Given the description of an element on the screen output the (x, y) to click on. 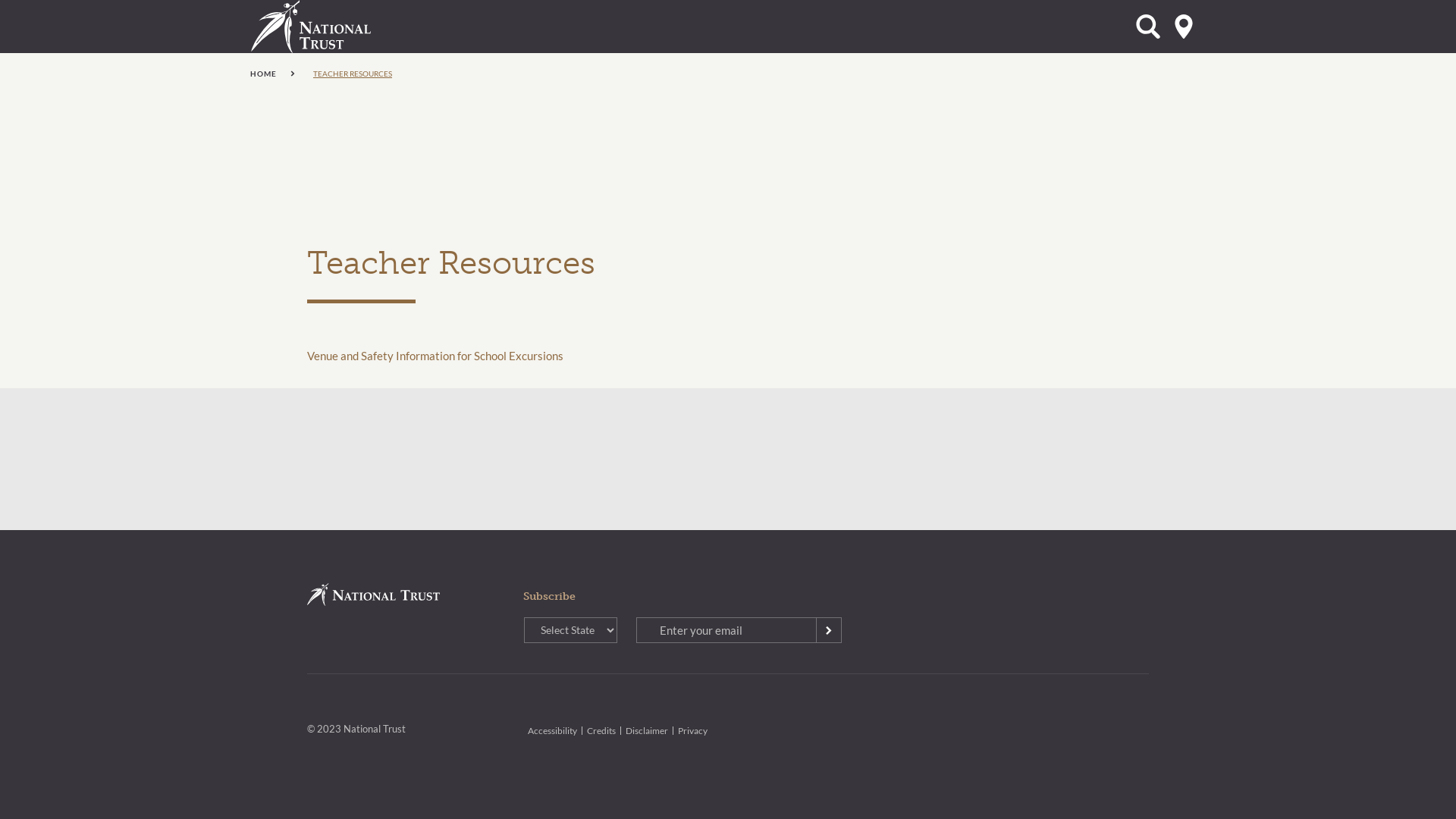
Credits Element type: text (601, 730)
National Trust Element type: text (373, 594)
Privacy Element type: text (692, 730)
Accessibility Element type: text (552, 730)
Disclaimer Element type: text (646, 730)
Submit Element type: text (828, 630)
Select State Element type: text (1183, 26)
National Trust Element type: text (342, 26)
HOME Element type: text (272, 73)
Open Search Form Element type: text (1147, 26)
Venue and Safety Information for School Excursions Element type: text (435, 355)
